Given the description of an element on the screen output the (x, y) to click on. 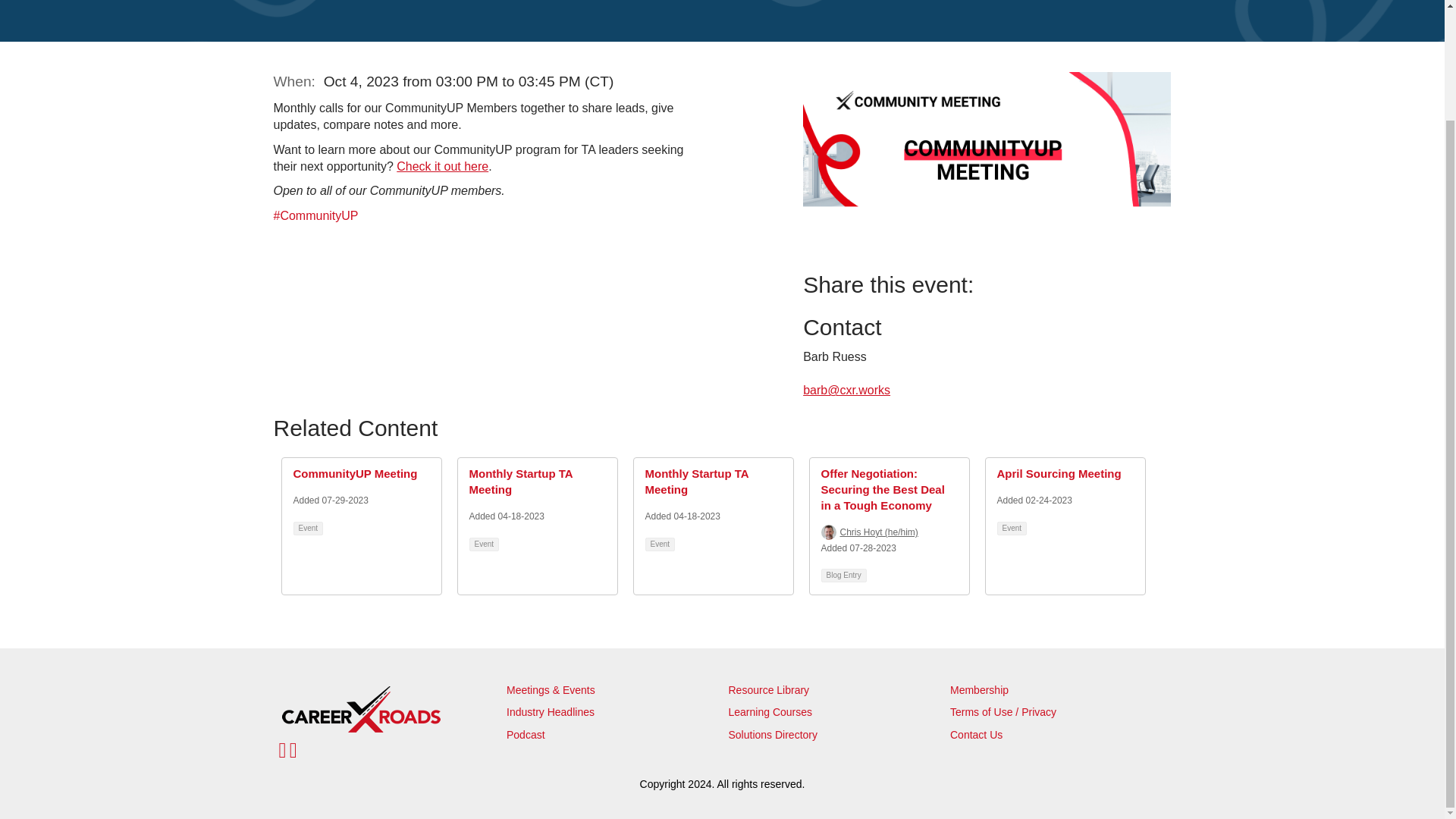
CommunityUP Meeting (354, 472)
Monthly Startup TA Meeting (520, 481)
Monthly Startup TA Meeting (520, 481)
April Sourcing Meeting (1058, 472)
Offer Negotiation: Securing the Best Deal in a Tough Economy (882, 488)
April Sourcing Meeting (1058, 472)
Monthly Startup TA Meeting (696, 481)
Meetings (529, 689)
CommunityUP Meeting (354, 472)
Monthly Startup TA Meeting (696, 481)
Check it out here (441, 165)
Offer Negotiation: Securing the Best Deal in a Tough Economy (882, 488)
